Given the description of an element on the screen output the (x, y) to click on. 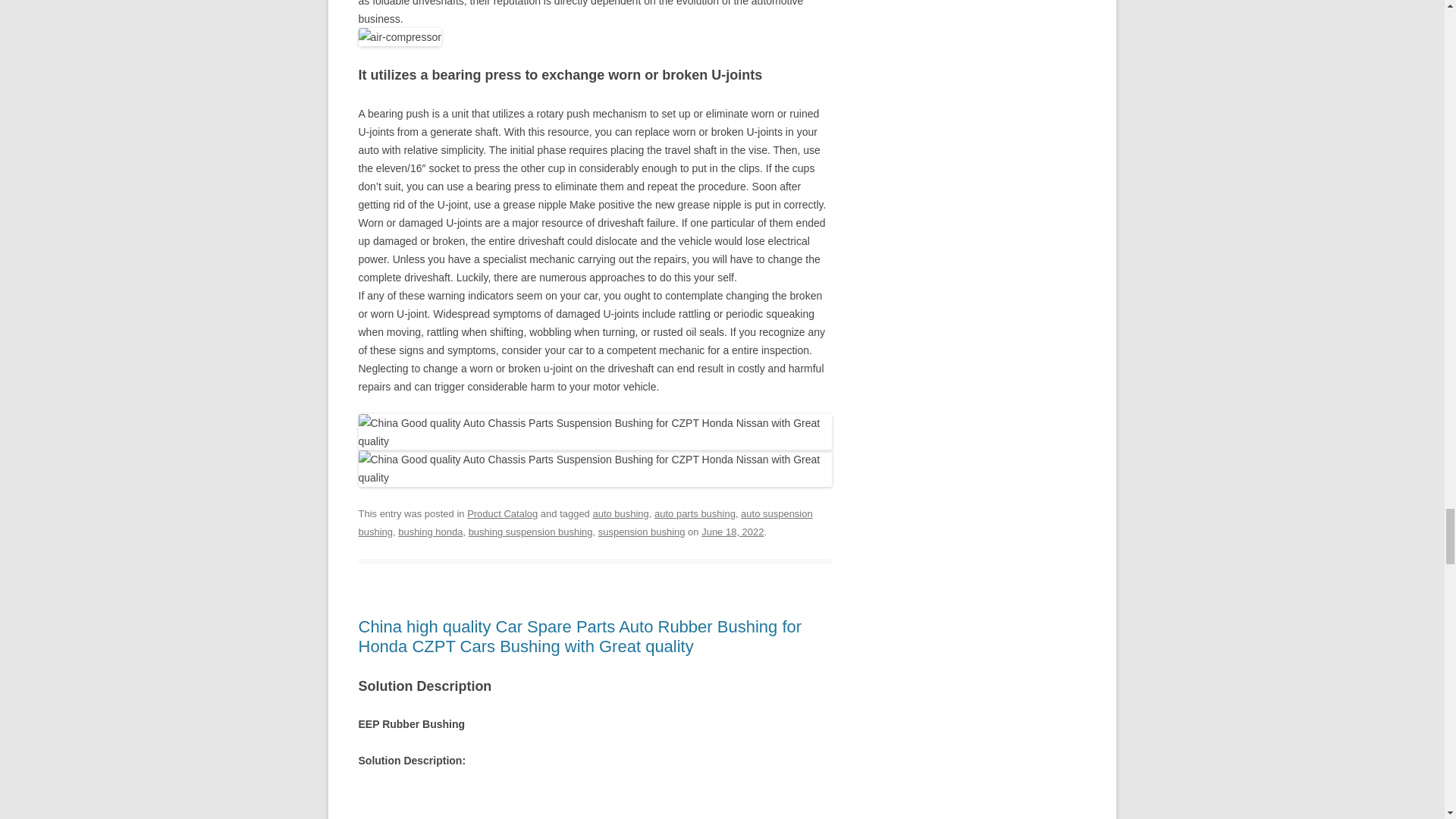
bushing suspension bushing (530, 531)
auto parts bushing (694, 513)
11:09 am (731, 531)
auto bushing (619, 513)
June 18, 2022 (731, 531)
bushing honda (430, 531)
auto suspension bushing (585, 522)
suspension bushing (641, 531)
Product Catalog (502, 513)
